Given the description of an element on the screen output the (x, y) to click on. 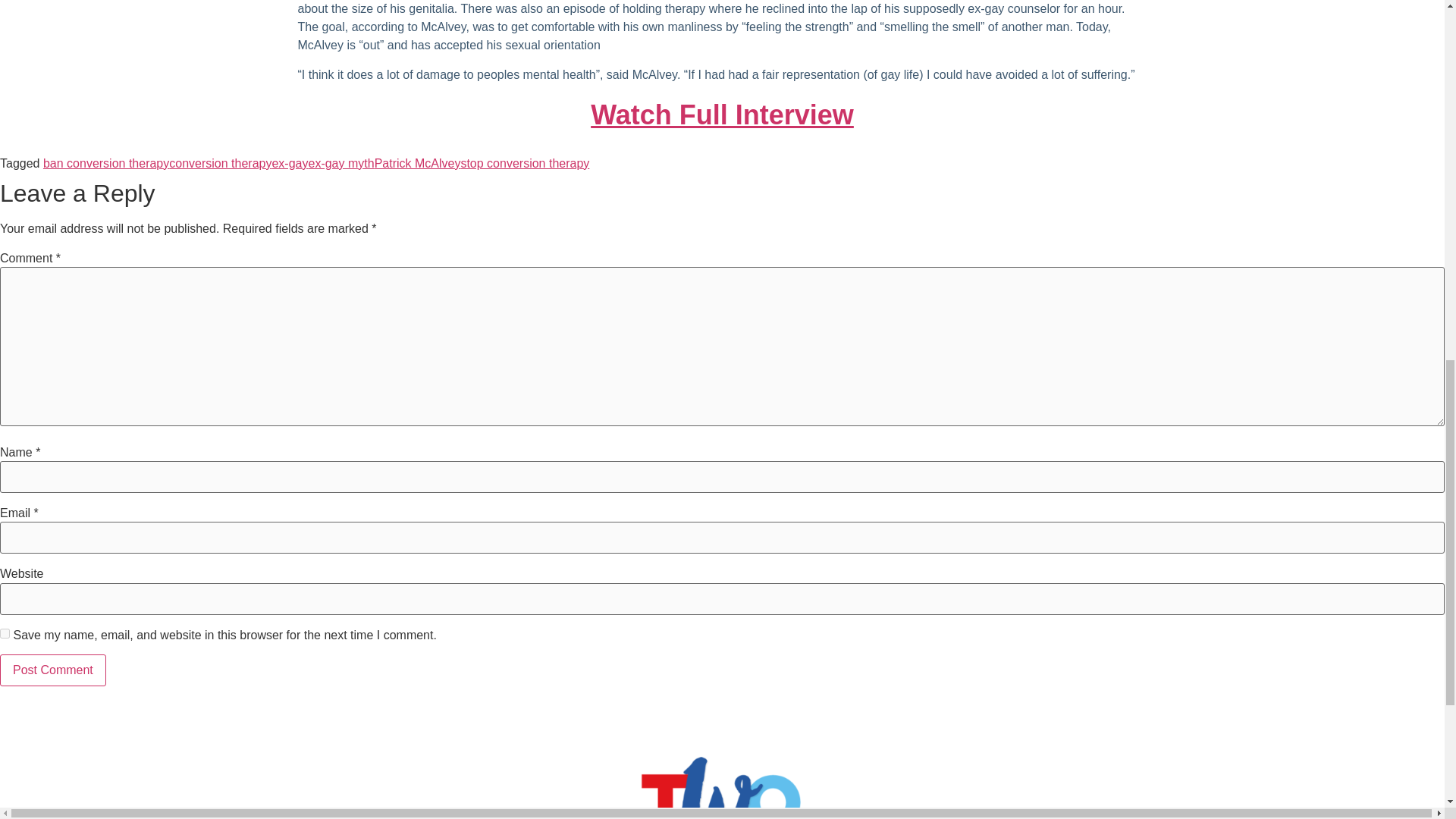
ex-gay (288, 163)
yes (5, 633)
stop conversion therapy (524, 163)
Post Comment (53, 670)
Watch Full Interview (722, 114)
ban conversion therapy (105, 163)
Post Comment (53, 670)
ex-gay myth (340, 163)
Patrick McAlvey (417, 163)
conversion therapy (219, 163)
